Given the description of an element on the screen output the (x, y) to click on. 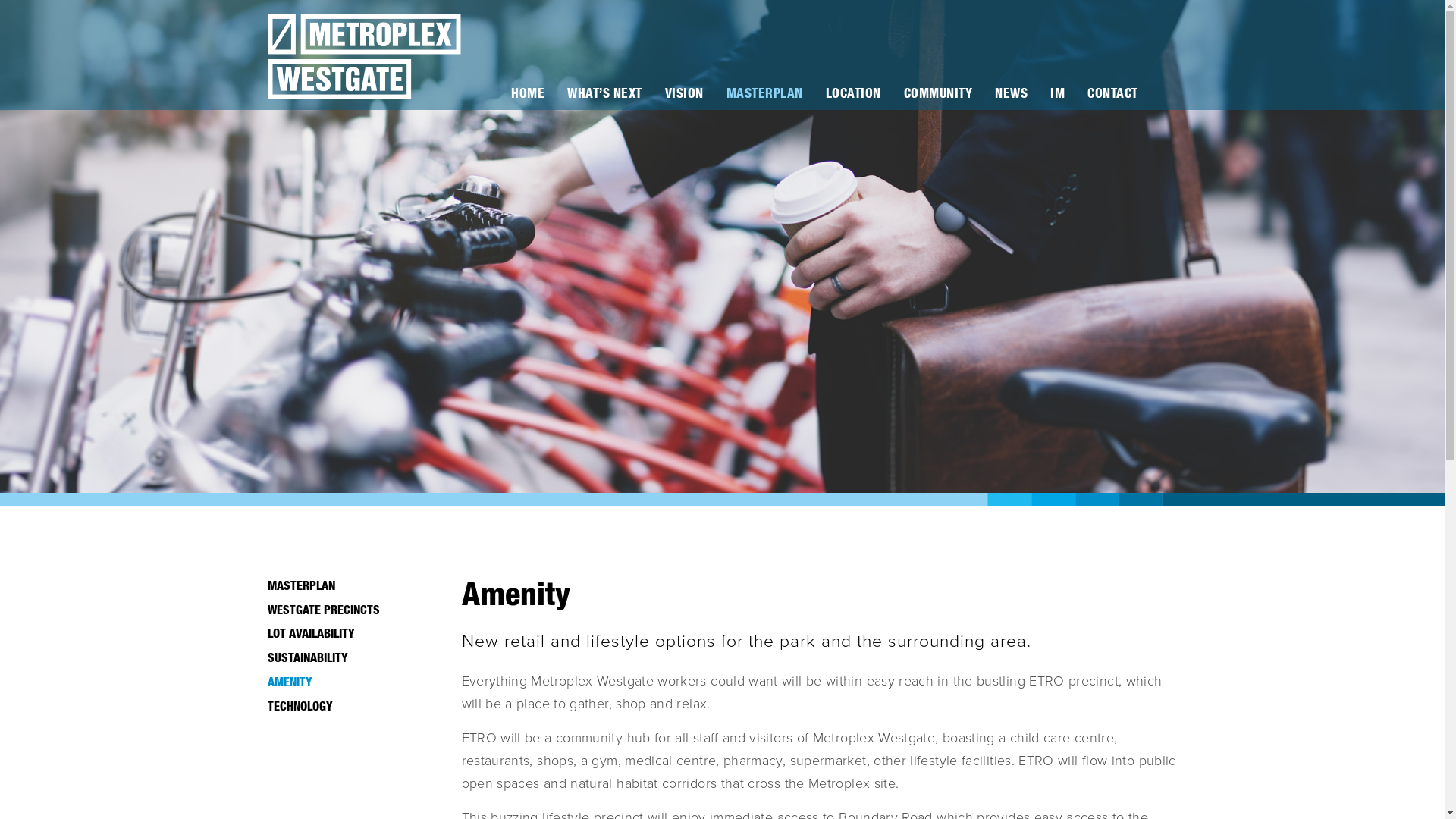
TECHNOLOGY Element type: text (359, 706)
LOCATION Element type: text (852, 93)
SUSTAINABILITY Element type: text (359, 658)
MASTERPLAN Element type: text (359, 586)
HOME Element type: text (527, 93)
WESTGATE PRECINCTS Element type: text (359, 611)
IM Element type: text (1057, 93)
COMMUNITY Element type: text (937, 93)
MASTERPLAN Element type: text (764, 93)
NEWS Element type: text (1010, 93)
AMENITY Element type: text (359, 683)
VISION Element type: text (683, 93)
CONTACT Element type: text (1112, 93)
LOT AVAILABILITY Element type: text (359, 634)
